Given the description of an element on the screen output the (x, y) to click on. 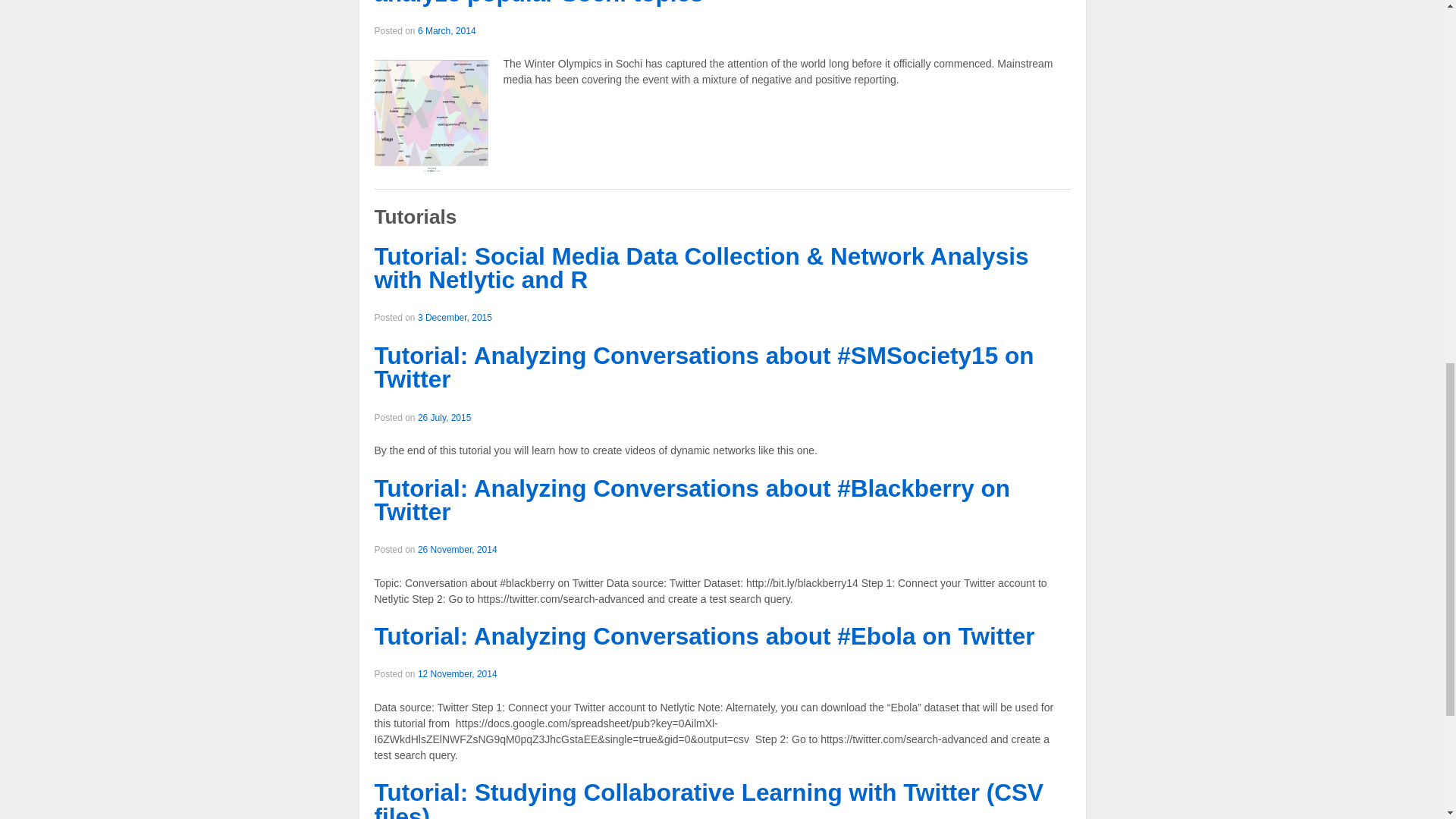
6 March, 2014 (446, 30)
